Given the description of an element on the screen output the (x, y) to click on. 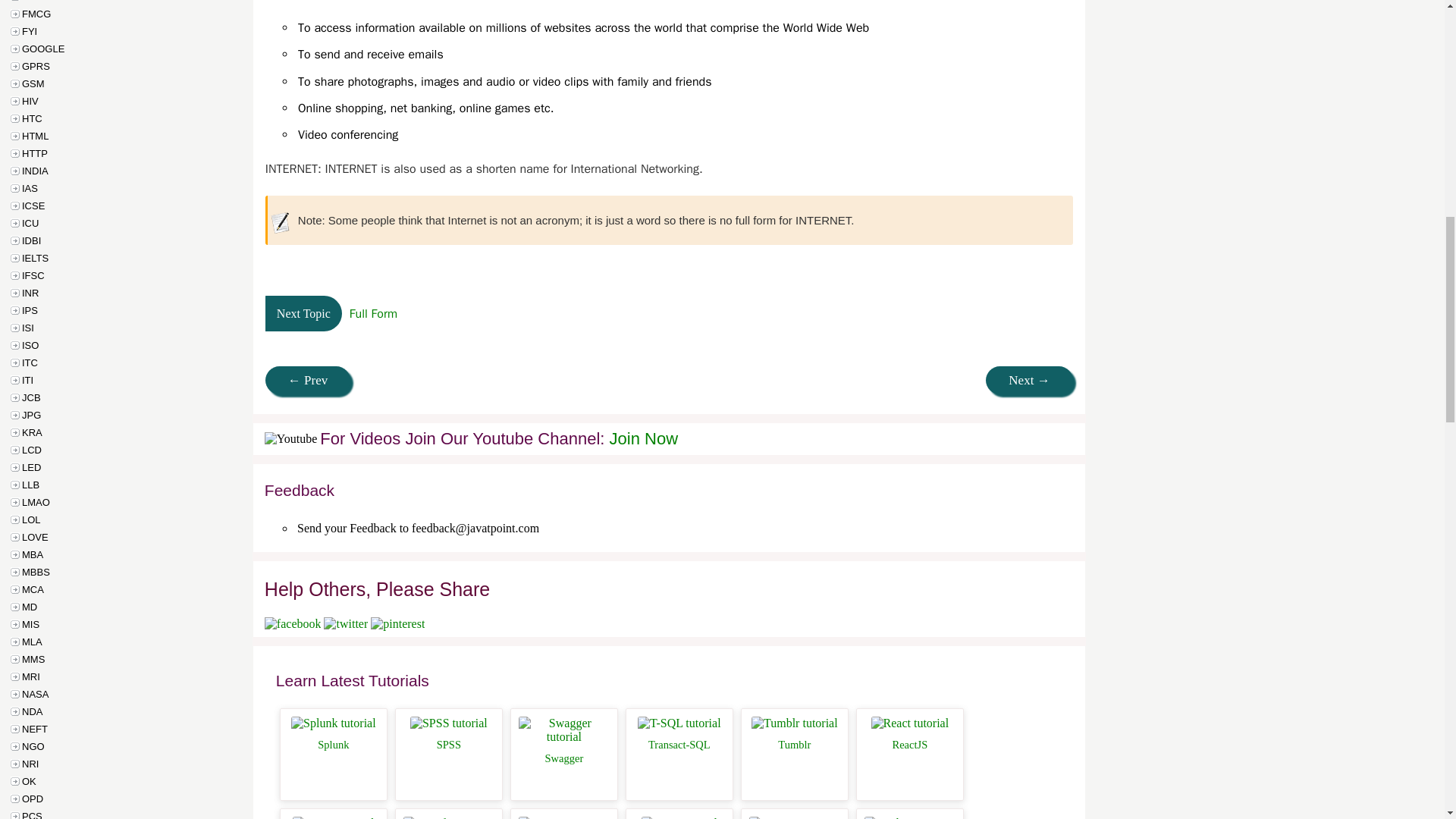
Facebook (292, 623)
Pinterest (398, 623)
Twitter (345, 623)
